Given the description of an element on the screen output the (x, y) to click on. 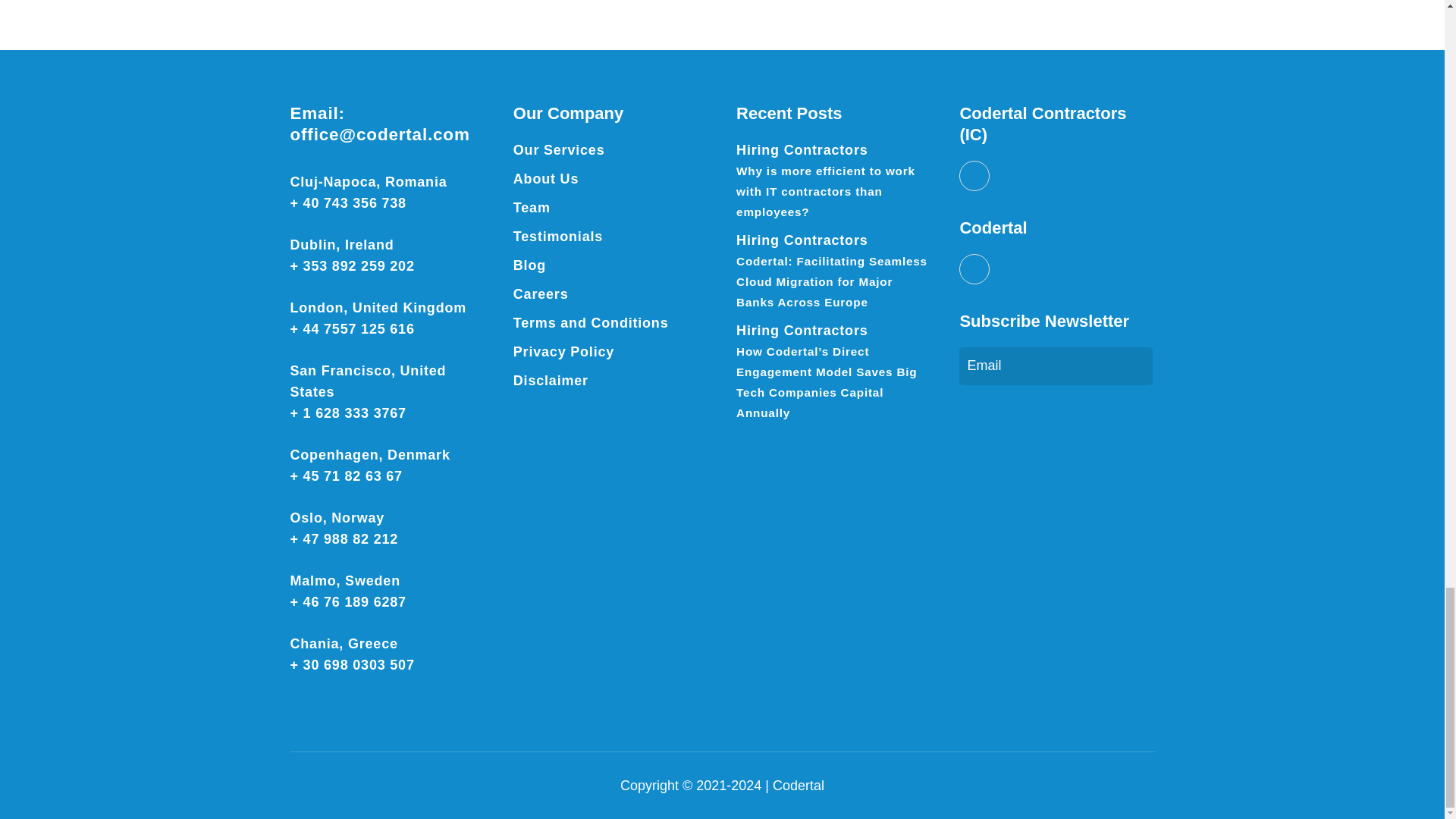
Testimonials (557, 236)
About Us (545, 178)
Careers (541, 294)
linkedin (974, 268)
Our Services (559, 150)
linkedin (974, 175)
Management Team (531, 207)
